Given the description of an element on the screen output the (x, y) to click on. 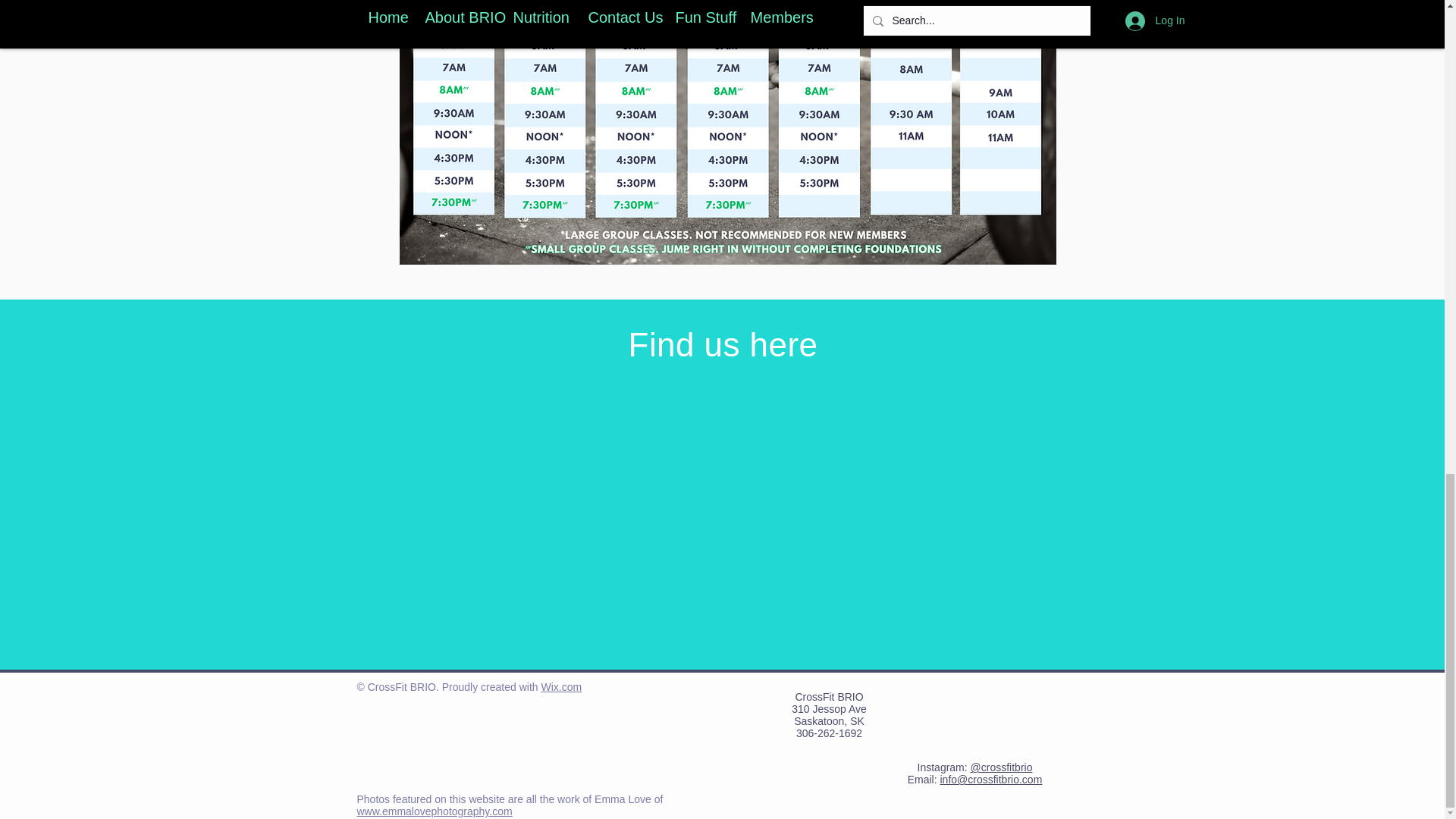
www.emmalovephotography.com (434, 811)
Wix.com (560, 686)
